Given the description of an element on the screen output the (x, y) to click on. 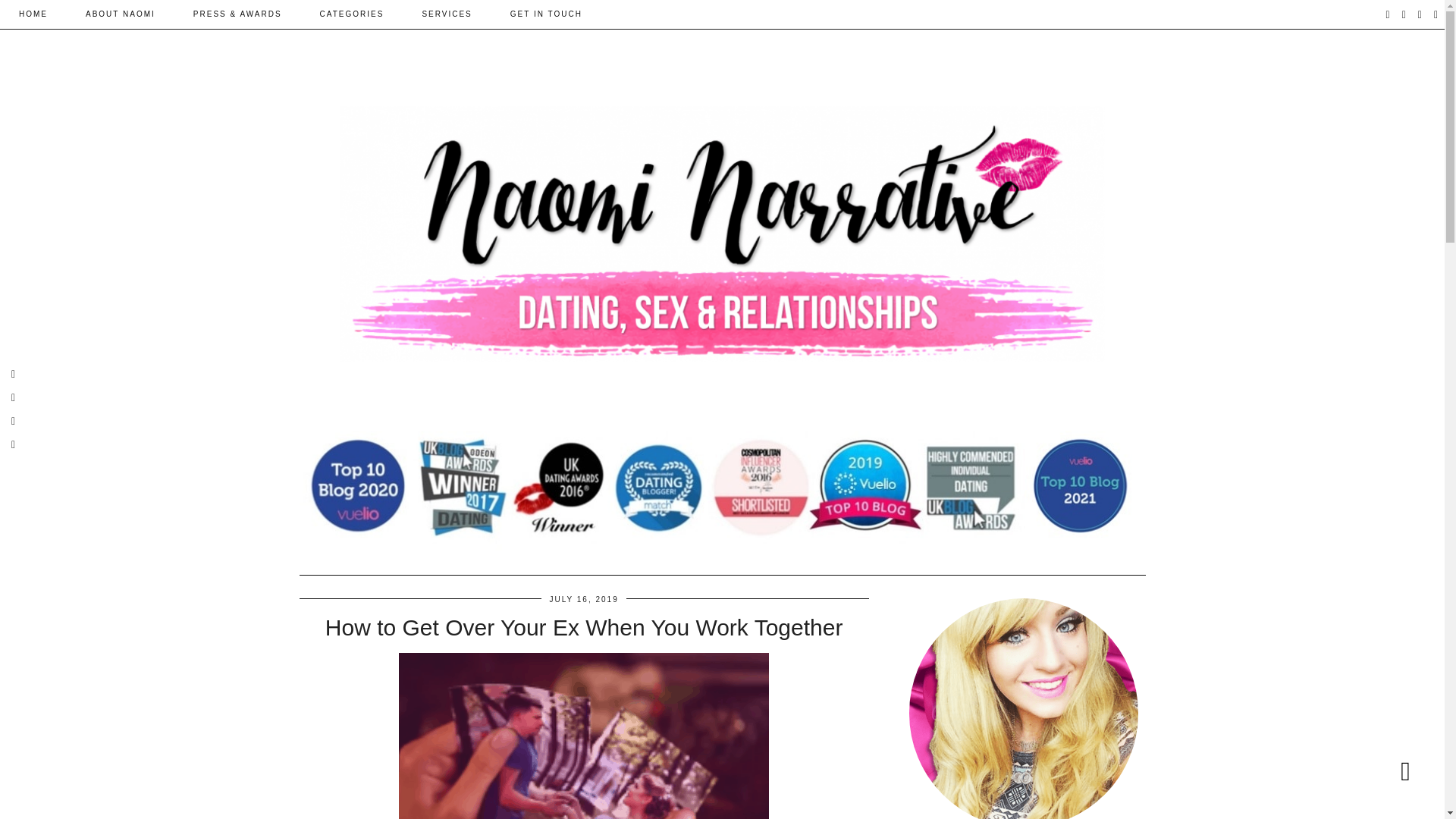
HOME (33, 14)
CATEGORIES (352, 14)
GET IN TOUCH (546, 14)
ABOUT NAOMI (120, 14)
SERVICES (446, 14)
